Given the description of an element on the screen output the (x, y) to click on. 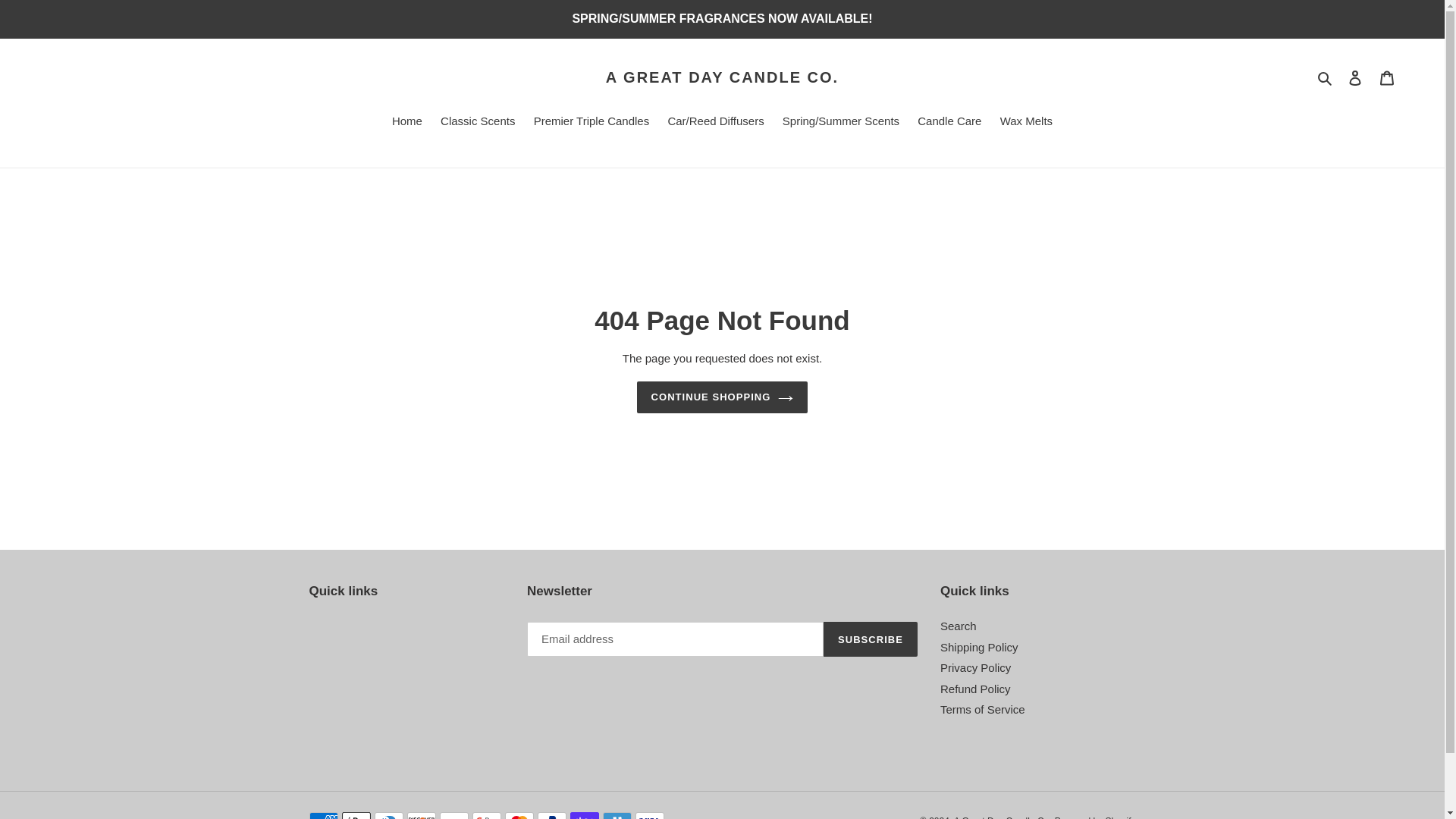
Home (406, 121)
Wax Melts (1025, 121)
A Great Day Candle Co. (1002, 817)
CONTINUE SHOPPING (722, 397)
Terms of Service (982, 708)
Cart (1387, 77)
Search (1326, 76)
Log in (1355, 77)
Premier Triple Candles (591, 121)
Candle Care (949, 121)
